Given the description of an element on the screen output the (x, y) to click on. 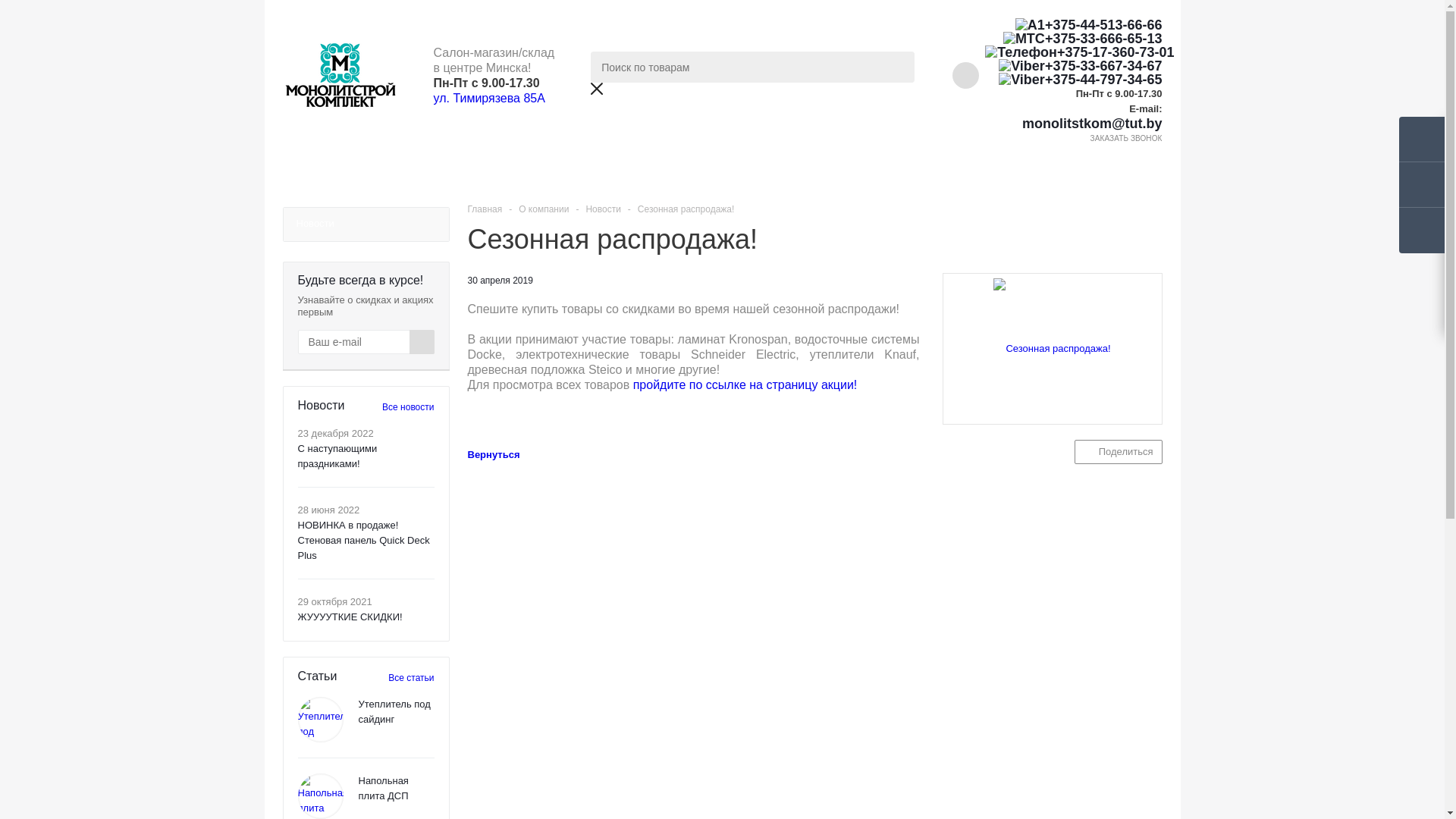
Viber Element type: hover (1021, 65)
Viber Element type: hover (1021, 79)
monolitstkom@tut.by Element type: text (1073, 123)
+375-44-797-34-65 Element type: text (1073, 79)
 +375-33-667-34-67 Element type: text (1073, 65)
+375-44-513-66-66 Element type: text (1073, 24)
+375-33-666-65-13 Element type: text (1073, 38)
+375-17-360-73-01 Element type: text (1073, 52)
A1 Element type: hover (1029, 24)
